Given the description of an element on the screen output the (x, y) to click on. 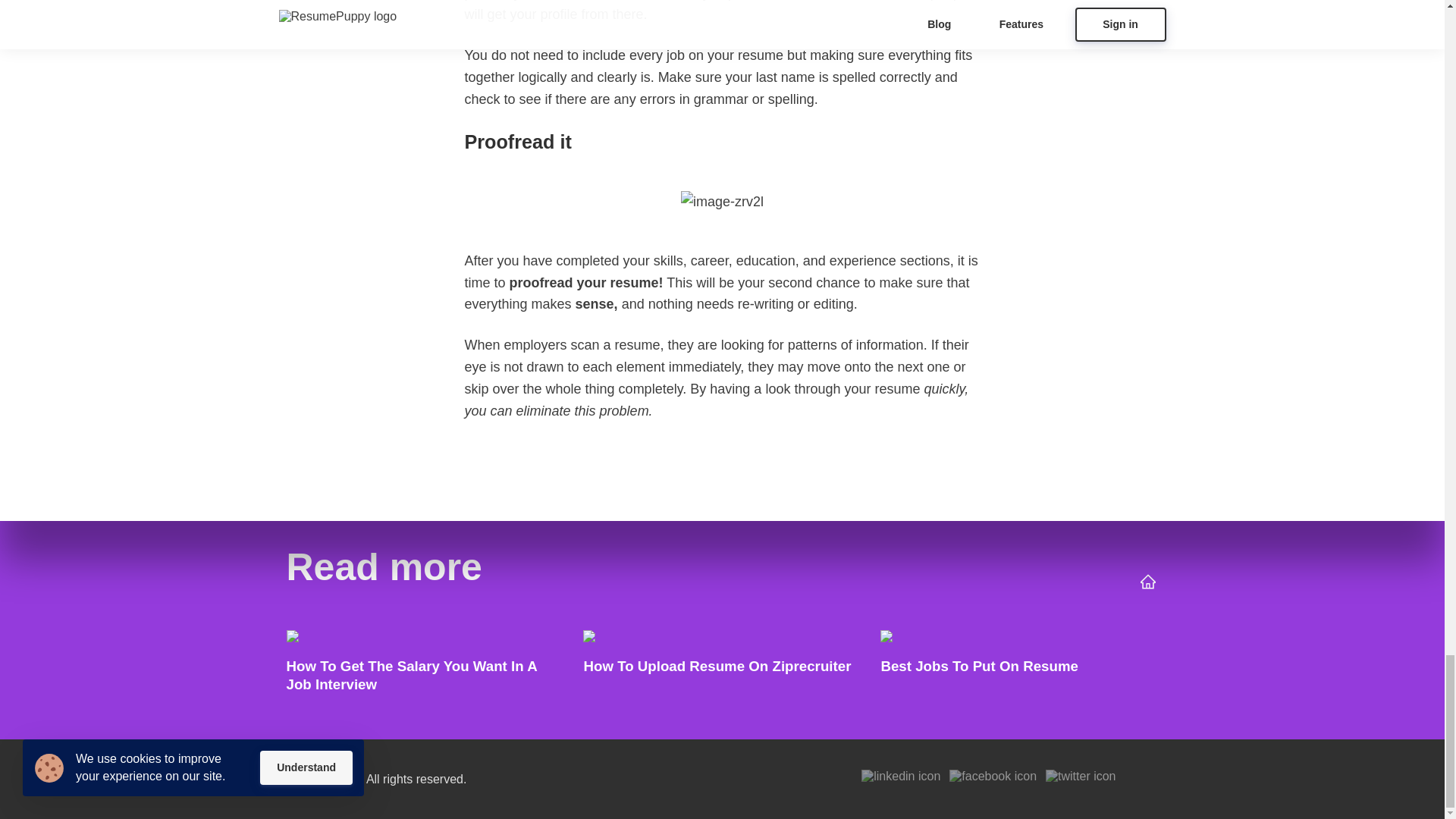
How To Upload Resume On Ziprecruiter (721, 665)
How To Get The Salary You Want In A Job Interview (425, 665)
Best Jobs To Put On Resume (1019, 665)
